Given the description of an element on the screen output the (x, y) to click on. 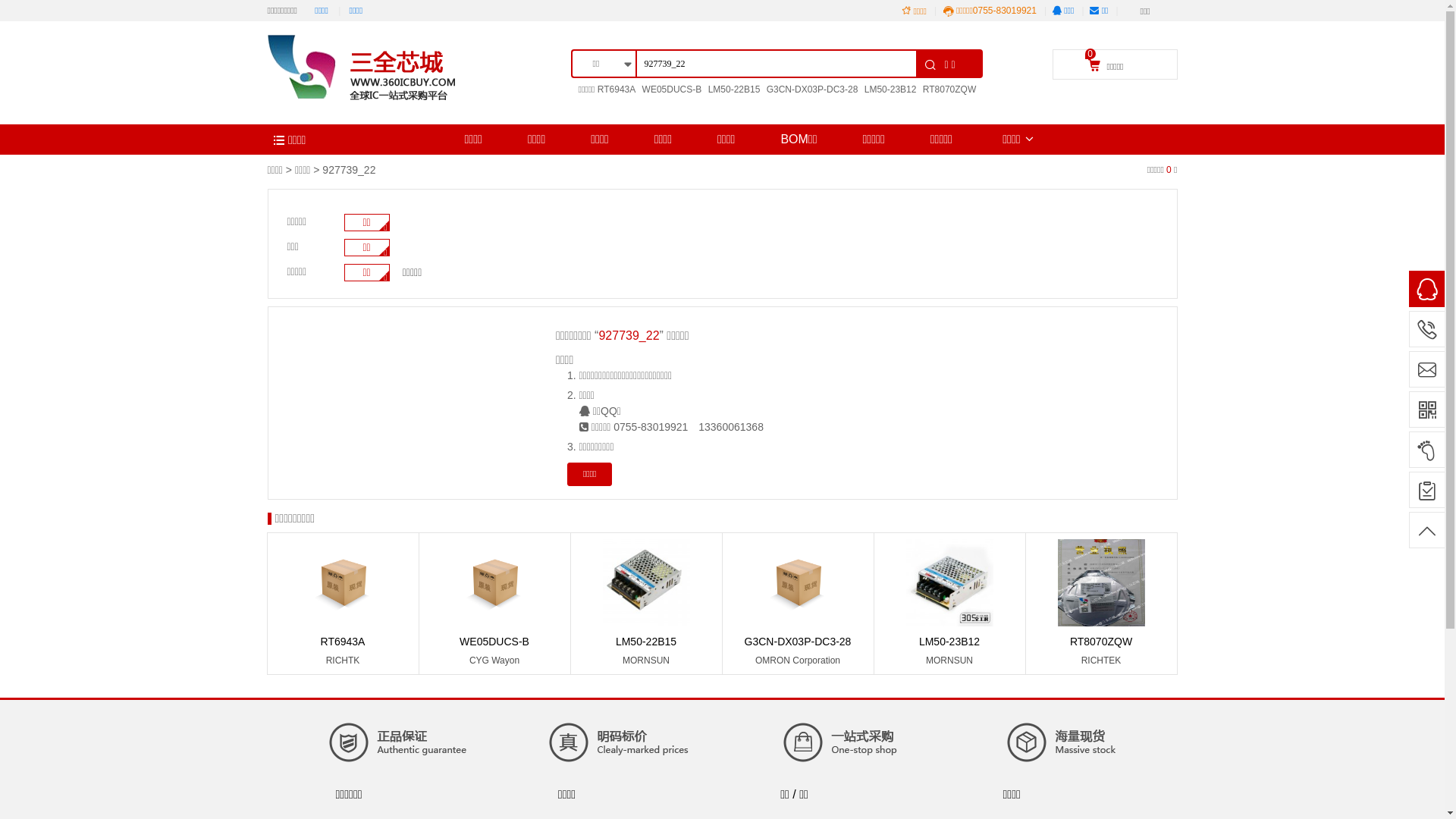
MP65151DJ-LF-Z Element type: text (613, 105)
WE05DUCS-B
CYG Wayon Element type: text (493, 605)
G3CN-DX03P-DC3-28
OMRON Corporation Element type: text (796, 605)
RT6943A Element type: text (616, 89)
sales@360icbuy.com Element type: hover (1426, 369)
WE05DUCS-B Element type: text (672, 89)
RT8070ZQW Element type: text (948, 89)
G3CN-DX03P-DC3-28 Element type: text (812, 89)
LM50-23B12
MORNSUN Element type: text (948, 605)
LM50-23B12 Element type: text (890, 89)
88E1548PA0-BAM2I000 Element type: text (705, 105)
RT6943A
RICHTK Element type: text (341, 605)
RT8070ZQW
RICHTEK Element type: text (1100, 605)
RTQ6749GQW-QT-A2 Element type: text (891, 105)
LM50-22B15
MORNSUN Element type: text (645, 605)
LM50-22B15 Element type: text (734, 89)
CT480BX500SSD1 Element type: text (800, 105)
